Given the description of an element on the screen output the (x, y) to click on. 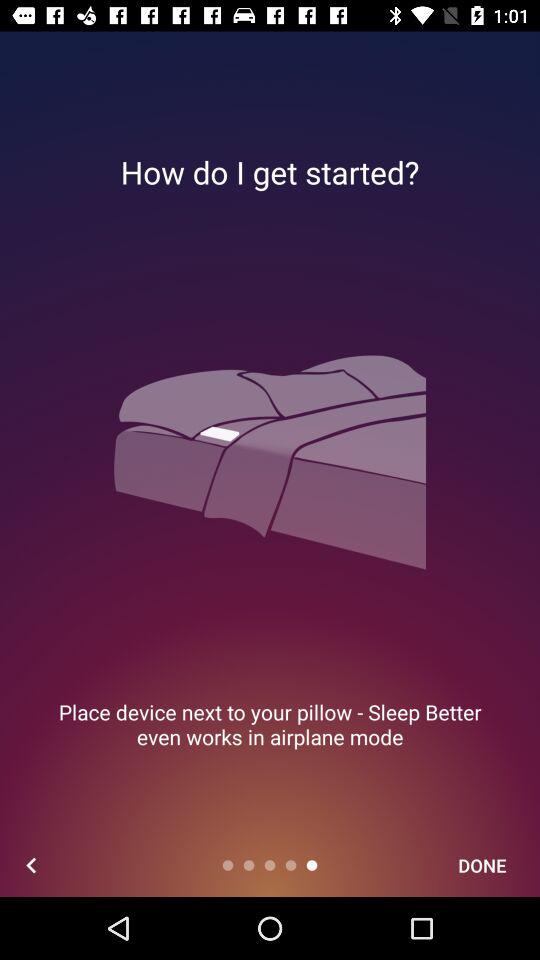
tap icon below the place device next item (482, 864)
